Given the description of an element on the screen output the (x, y) to click on. 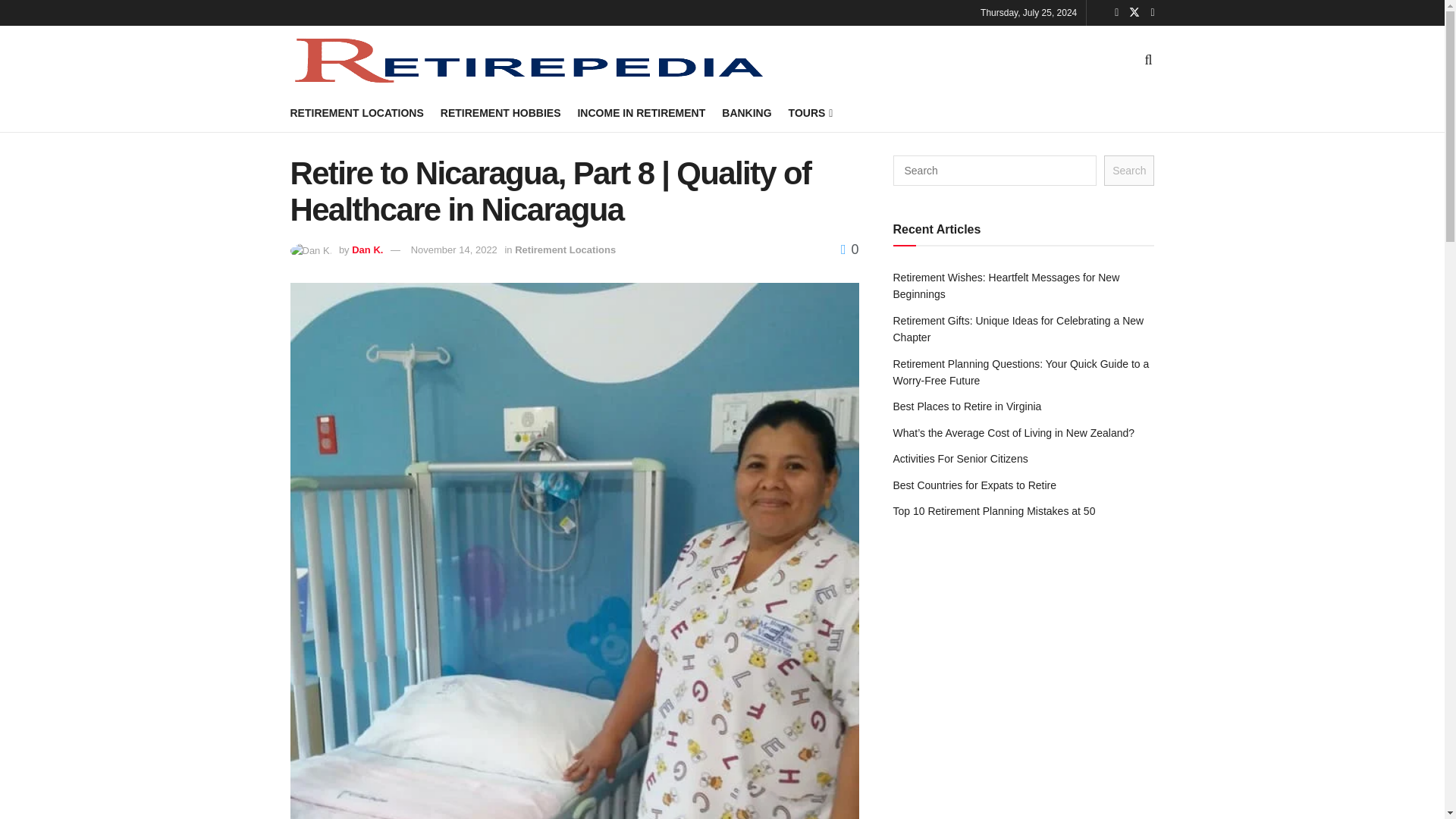
TOURS (810, 112)
BANKING (746, 112)
RETIREMENT LOCATIONS (356, 112)
November 14, 2022 (453, 249)
RETIREMENT HOBBIES (500, 112)
0 (850, 249)
INCOME IN RETIREMENT (640, 112)
Dan K. (367, 249)
Retirement Locations (565, 249)
